Given the description of an element on the screen output the (x, y) to click on. 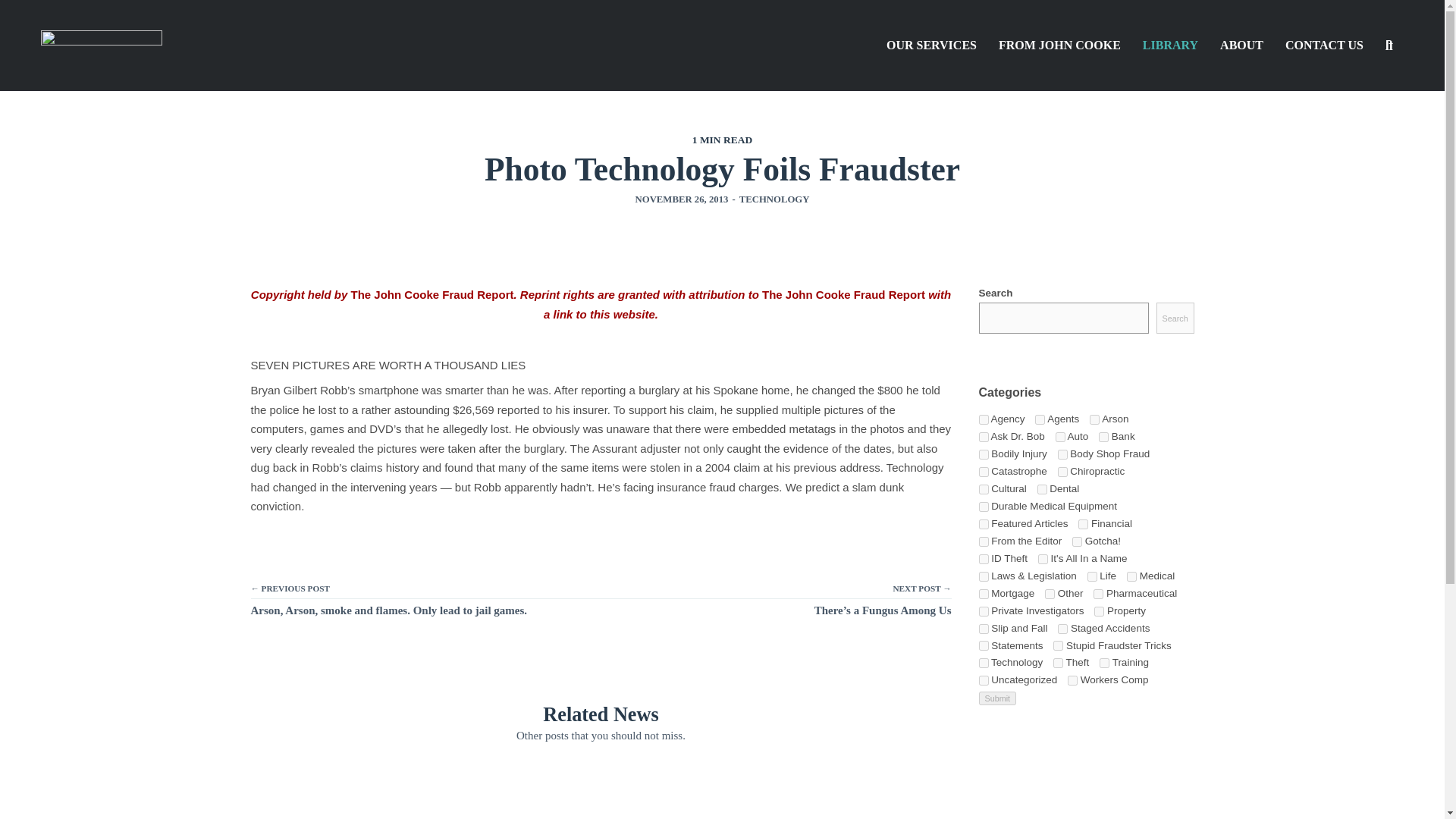
1 MIN READ (722, 139)
42 (1040, 419)
34 (983, 471)
28 (1062, 471)
47 (983, 559)
57 (983, 454)
OUR SERVICES (931, 45)
49 (1076, 542)
3 (1043, 559)
31 (1094, 419)
TECHNOLOGY (774, 199)
35 (983, 542)
43 (1103, 437)
22 (983, 489)
Submit (997, 698)
